Given the description of an element on the screen output the (x, y) to click on. 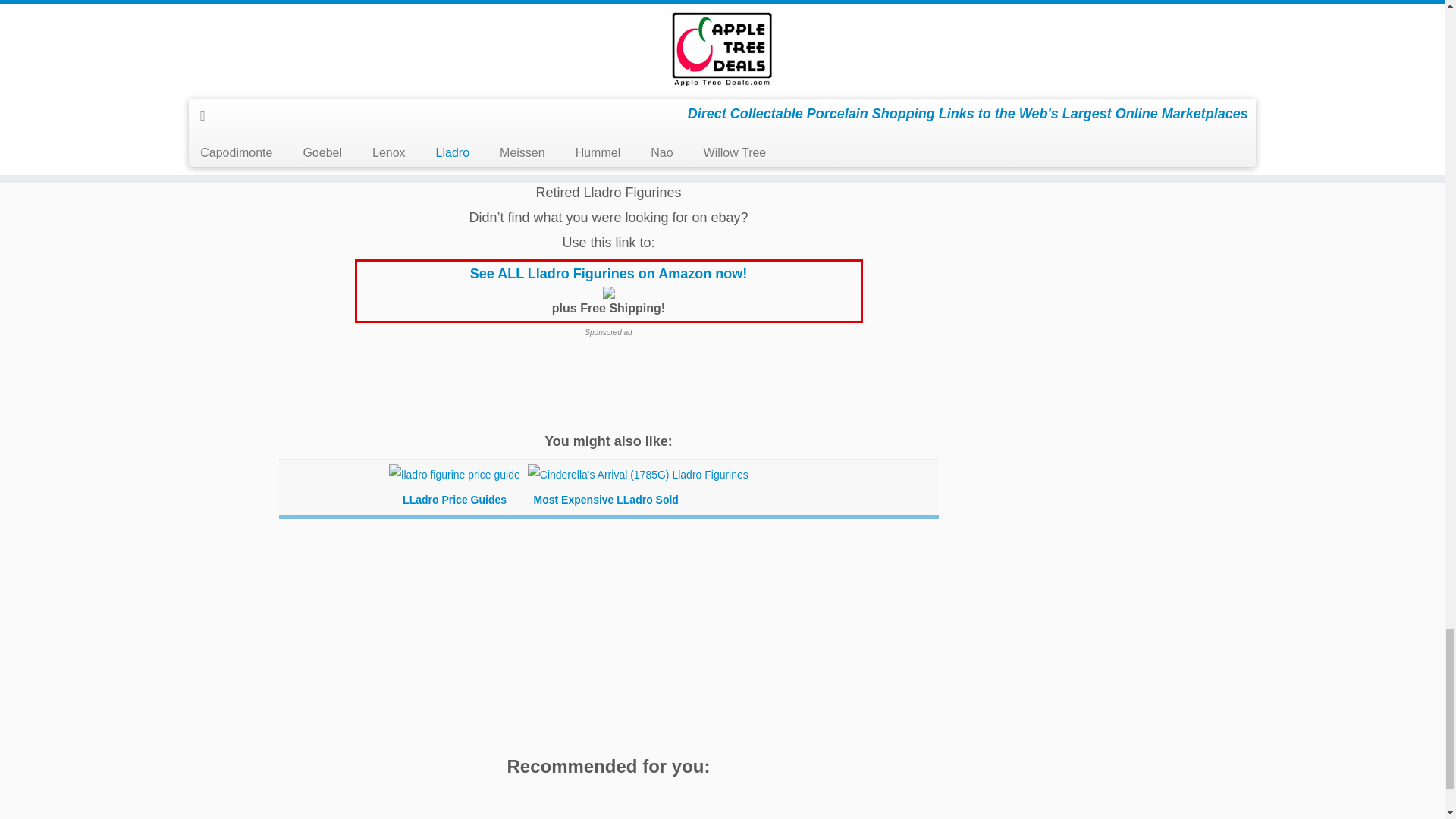
See ALL available Lladro Lamps, Lights,Chandeliers (441, 138)
See ALL Lladro Figurines on Amazon now! (608, 282)
Lladro Vases (770, 138)
LLadro Price Guides (453, 488)
  Most Expensive LLadro Sold (637, 488)
